Given the description of an element on the screen output the (x, y) to click on. 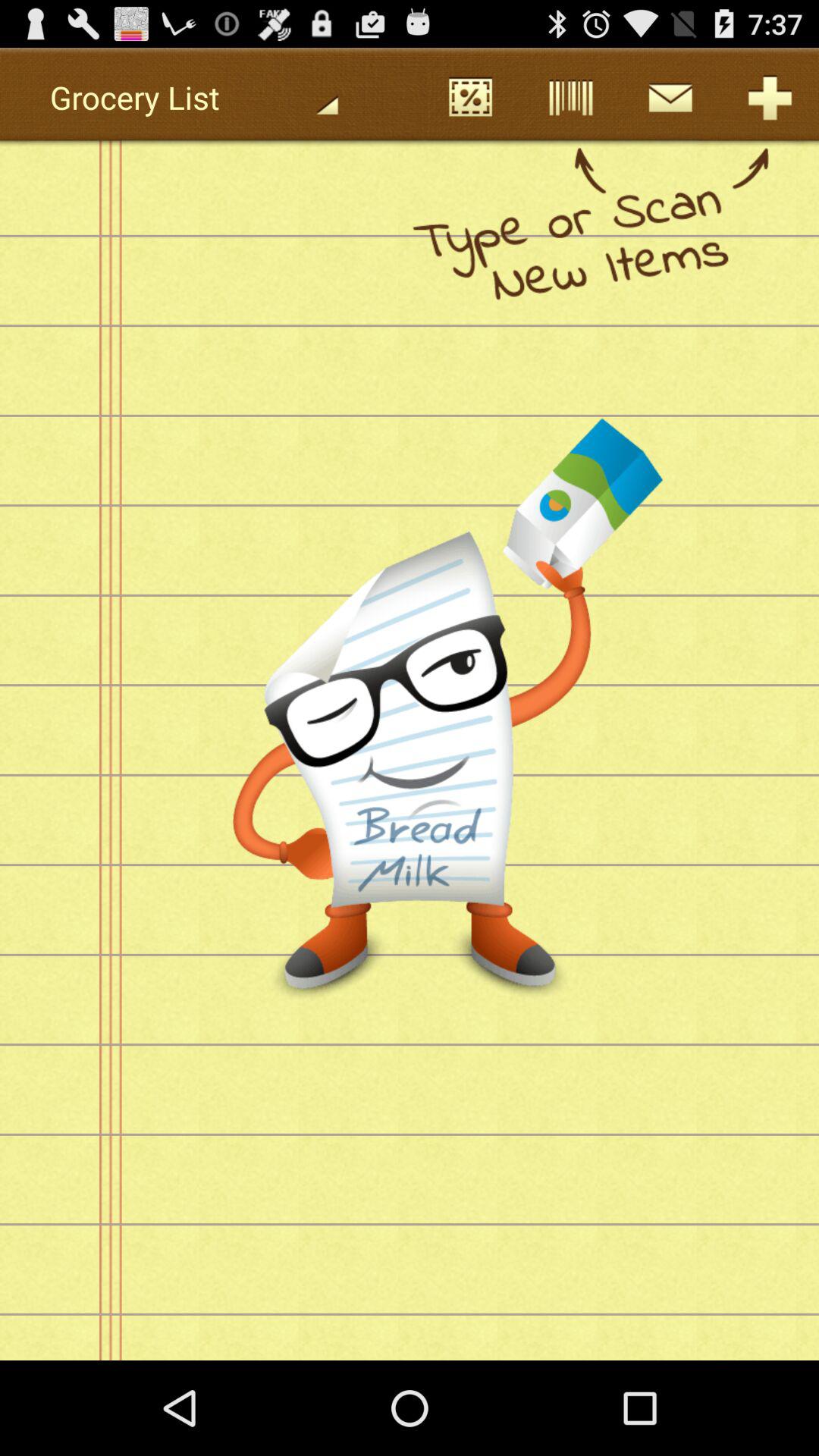
select the image on the page (500, 575)
click on percentage icon (470, 97)
